Given the description of an element on the screen output the (x, y) to click on. 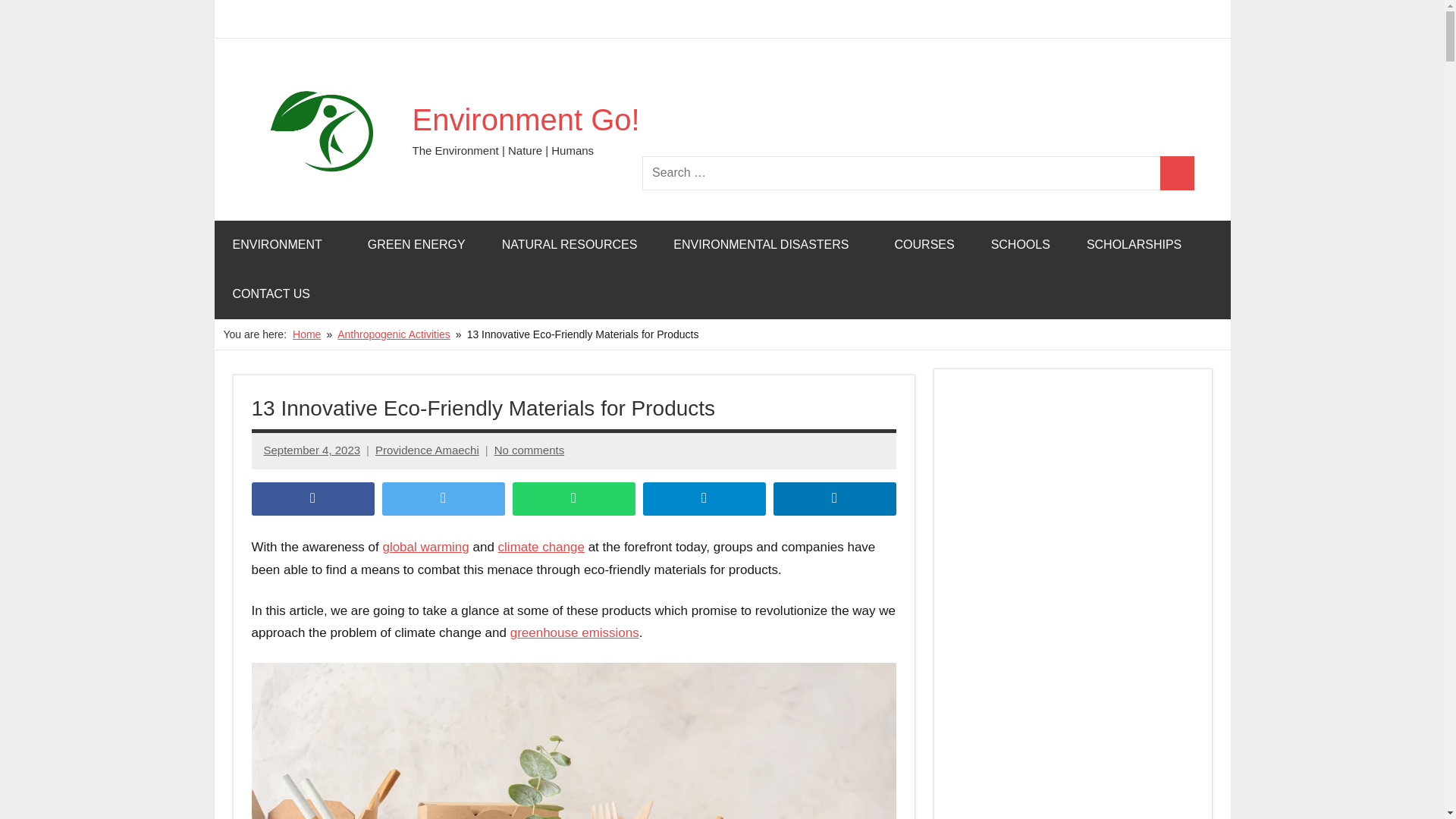
SCHOOLS (1020, 245)
View all posts by Providence Amaechi (427, 449)
September 4, 2023 (312, 449)
ENVIRONMENTAL DISASTERS (765, 245)
GREEN ENERGY (416, 245)
Providence Amaechi (427, 449)
Anthropogenic Activities (393, 333)
No comments (529, 449)
SCHOLARSHIPS (1133, 245)
global warming (424, 546)
